Given the description of an element on the screen output the (x, y) to click on. 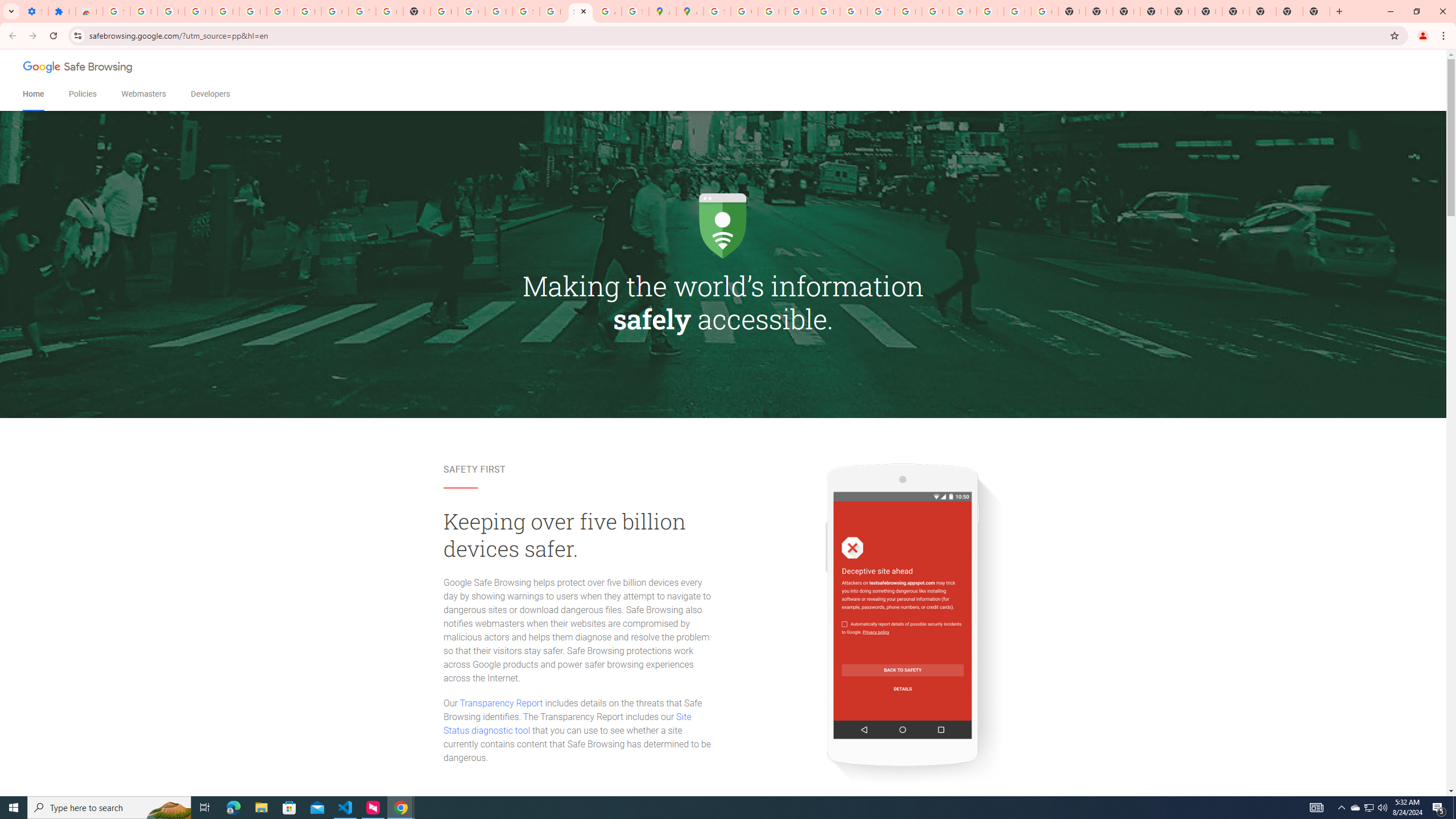
New Tab (1153, 11)
